Given the description of an element on the screen output the (x, y) to click on. 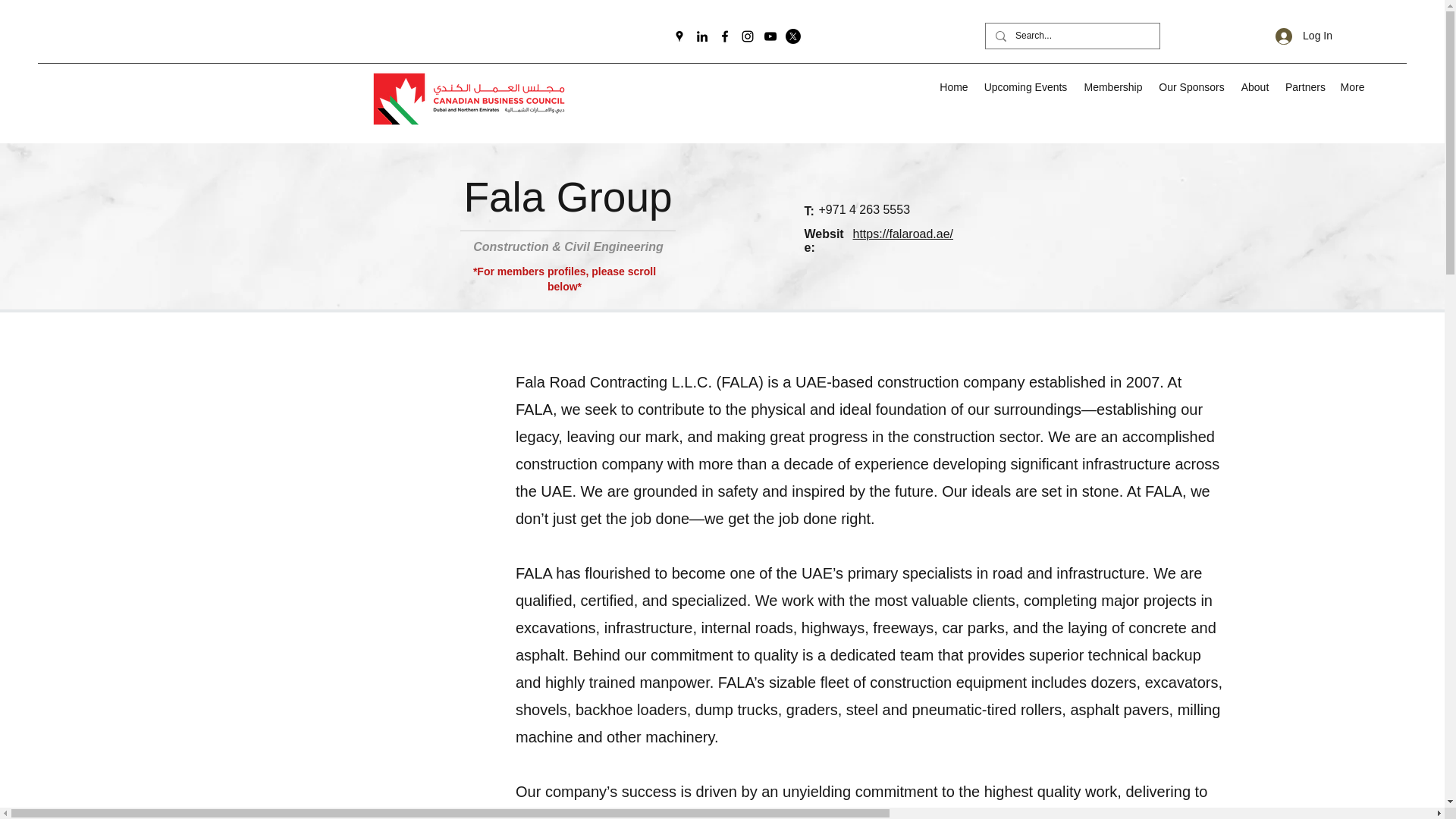
Partners (1305, 86)
Upcoming Events (1025, 86)
Our Sponsors (1191, 86)
About (1254, 86)
Log In (1303, 35)
Home (953, 86)
Membership (1113, 86)
